Given the description of an element on the screen output the (x, y) to click on. 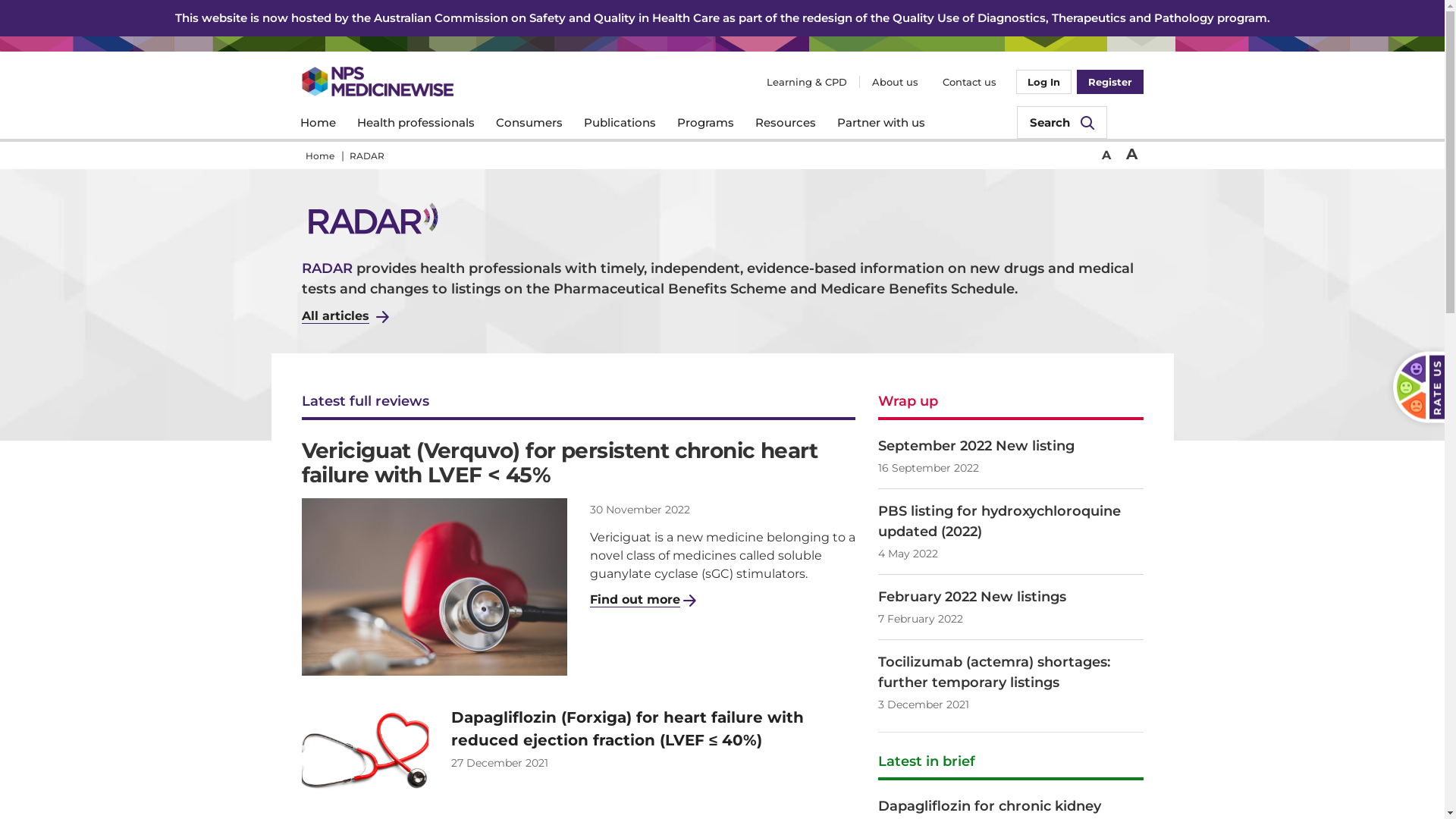
Find out more Element type: text (642, 599)
Tocilizumab (actemra) shortages: further temporary listings Element type: text (1010, 672)
Log In Element type: text (1043, 81)
Consumers Element type: text (529, 122)
Home Element type: text (319, 155)
About us Element type: text (895, 81)
Partner with us Element type: text (880, 122)
Health professionals Element type: text (414, 122)
September 2022 New listing Element type: text (1010, 446)
Programs Element type: text (704, 122)
RADAR Element type: text (366, 155)
A Element type: text (1105, 154)
Publications Element type: text (619, 122)
Register Element type: text (1109, 81)
All articles Element type: text (345, 316)
Home Element type: text (317, 122)
February 2022 New listings Element type: text (1010, 596)
Contact us Element type: text (968, 81)
PBS listing for hydroxychloroquine updated (2022) Element type: text (1010, 521)
A Element type: text (1130, 153)
Resources Element type: text (785, 122)
Search Element type: text (1061, 122)
Learning & CPD Element type: text (805, 81)
